Given the description of an element on the screen output the (x, y) to click on. 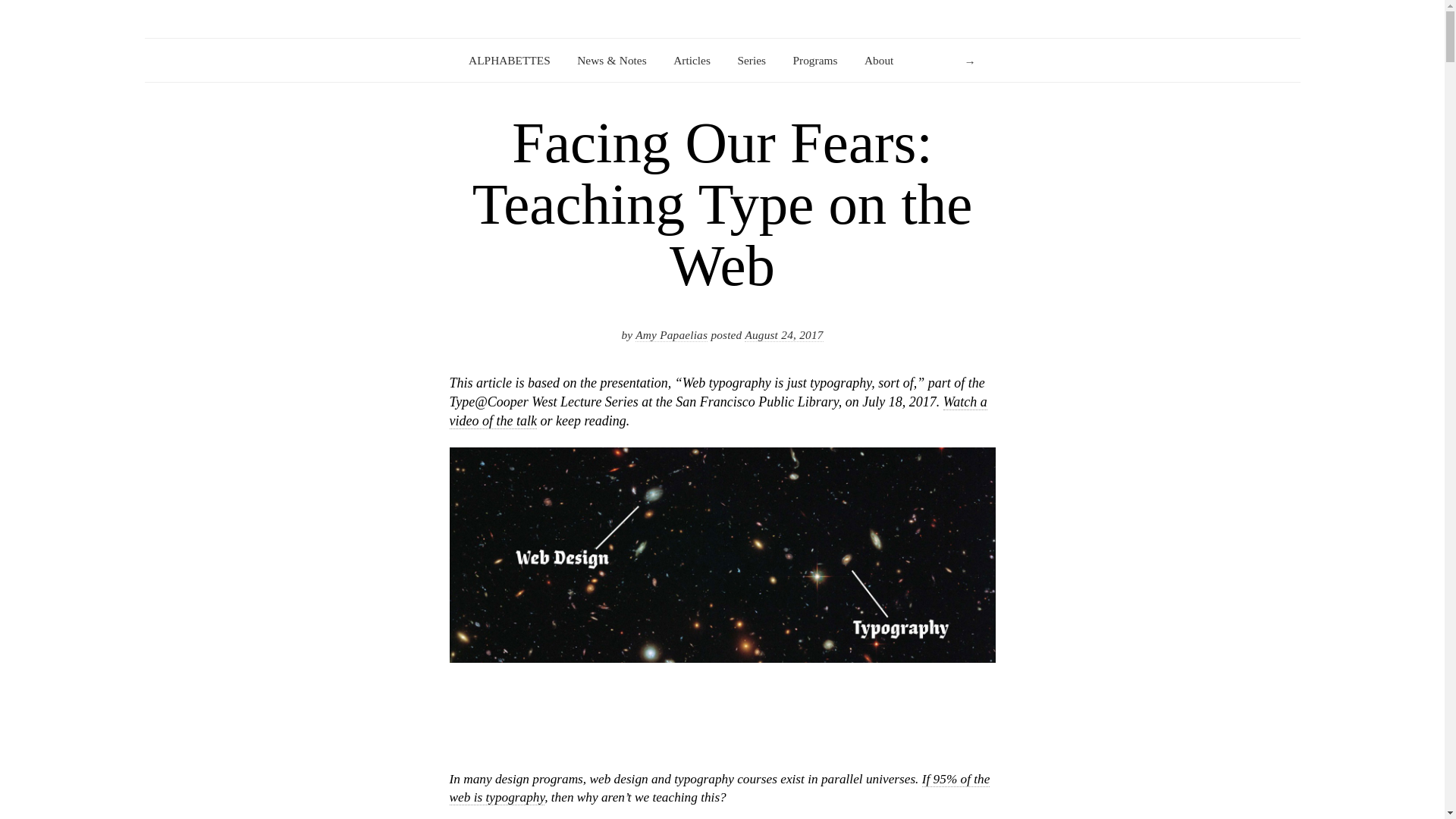
Watch a video of the talk (717, 411)
About (878, 60)
Enter keyword (947, 61)
Series (750, 60)
Articles (691, 60)
ALPHABETTES (509, 60)
View all posts by Amy Papaelias (670, 335)
Amy Papaelias (670, 335)
01:52 (783, 335)
Programs (815, 60)
